Given the description of an element on the screen output the (x, y) to click on. 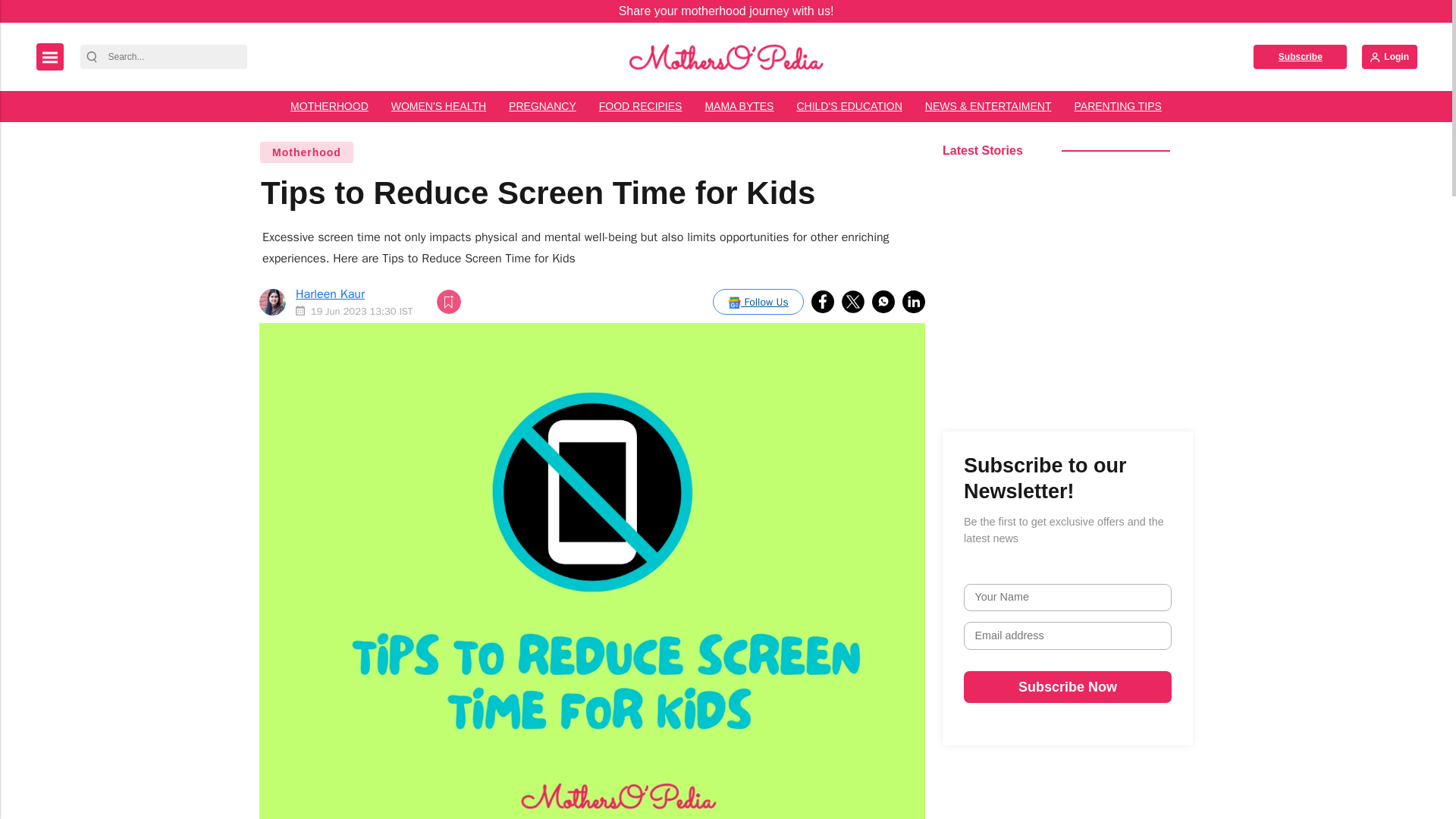
Motherhood (306, 151)
Follow Us (758, 301)
PREGNANCY (542, 106)
Subscribe (1299, 56)
WOMEN'S HEALTH (438, 106)
PARENTING TIPS (1117, 106)
CHILD'S EDUCATION (848, 106)
Login (1388, 56)
MAMA BYTES (738, 106)
FOOD RECIPIES (641, 106)
